Given the description of an element on the screen output the (x, y) to click on. 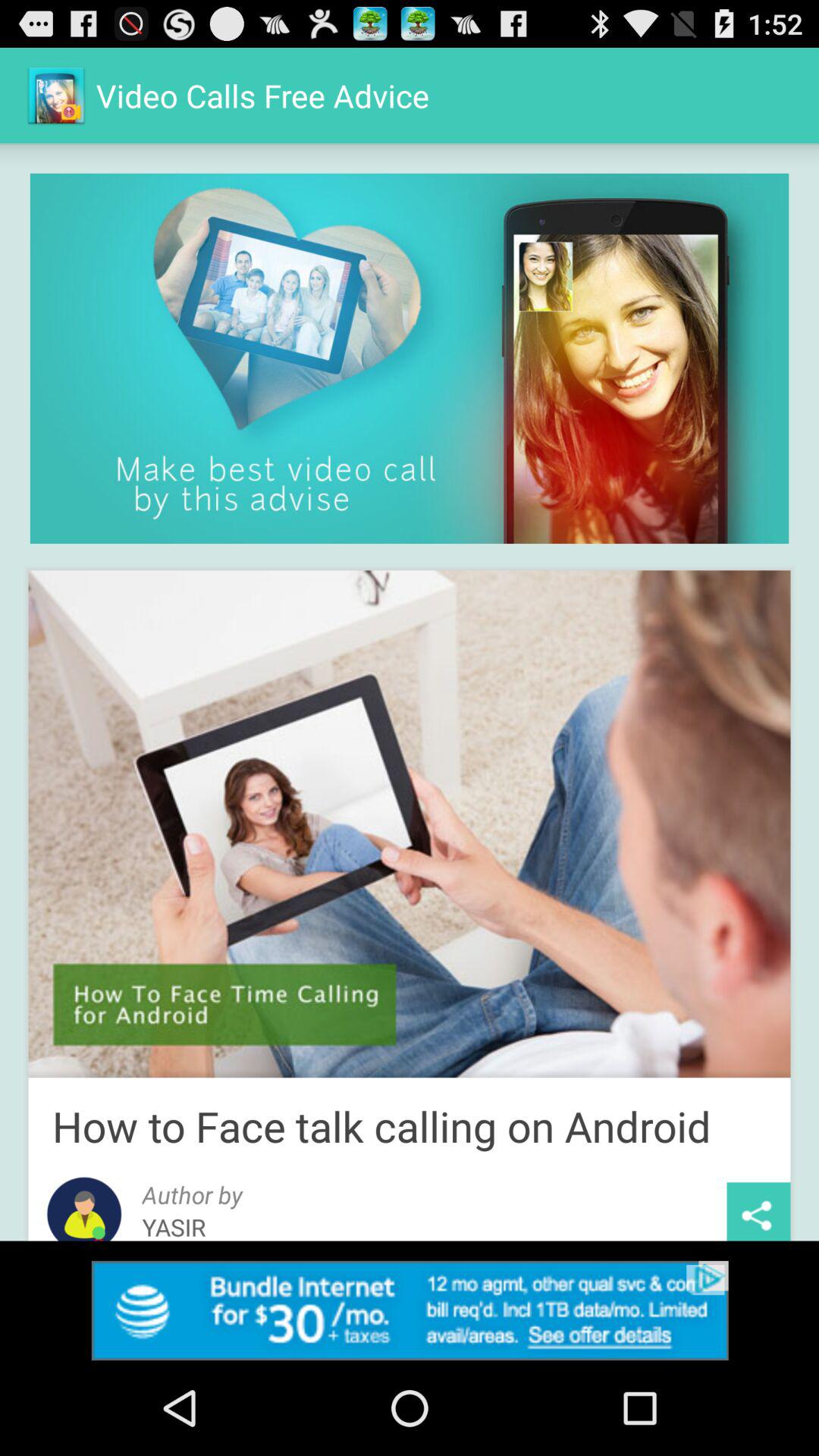
advertisement link (409, 1310)
